Given the description of an element on the screen output the (x, y) to click on. 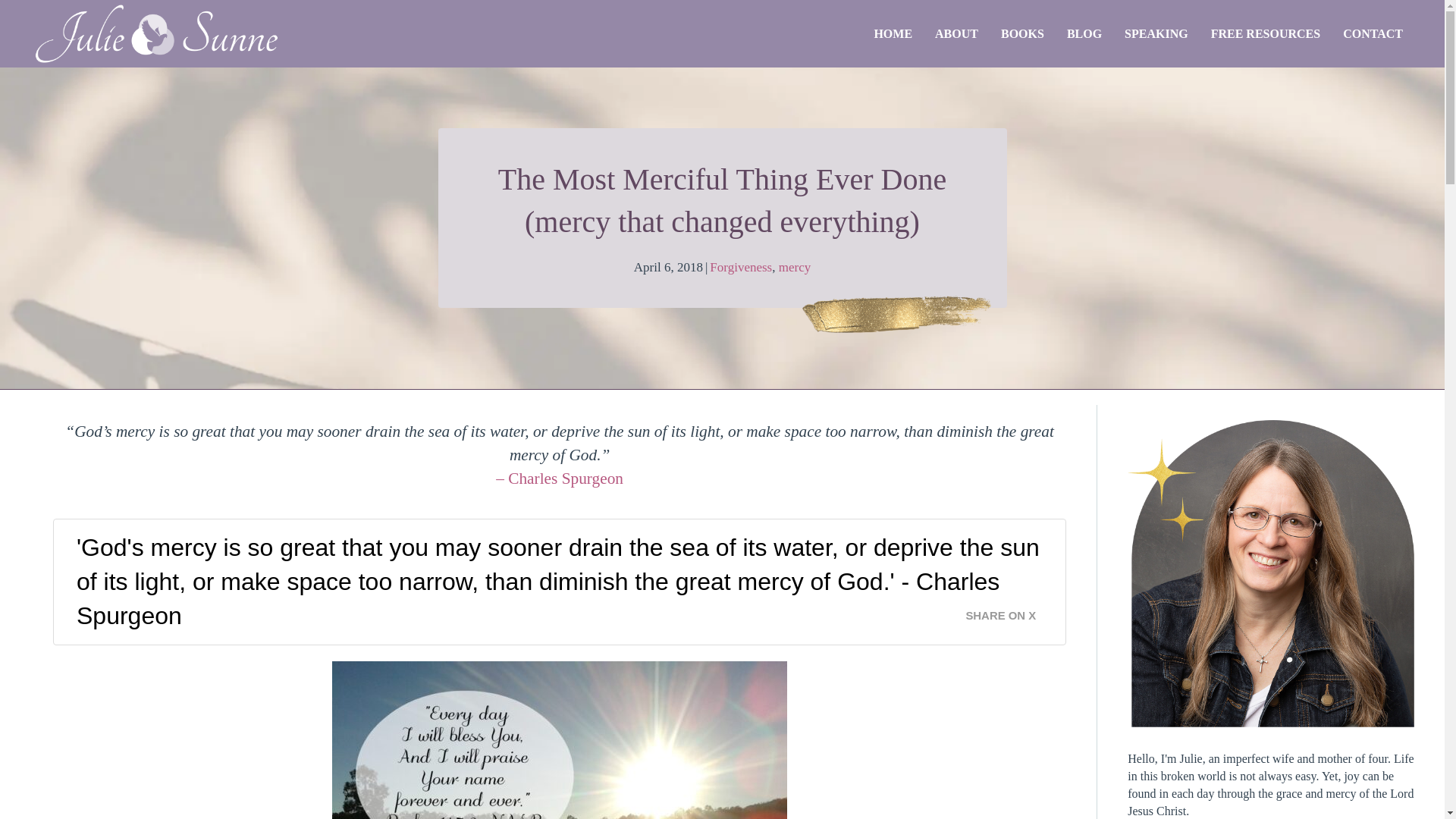
BLOG (1084, 33)
BOOKS (1022, 33)
Forgiveness (740, 267)
mercy (794, 267)
CONTACT (1372, 33)
SHARE ON X (1009, 611)
ABOUT (956, 33)
SPEAKING (1156, 33)
FREE RESOURCES (1265, 33)
HOME (892, 33)
